Given the description of an element on the screen output the (x, y) to click on. 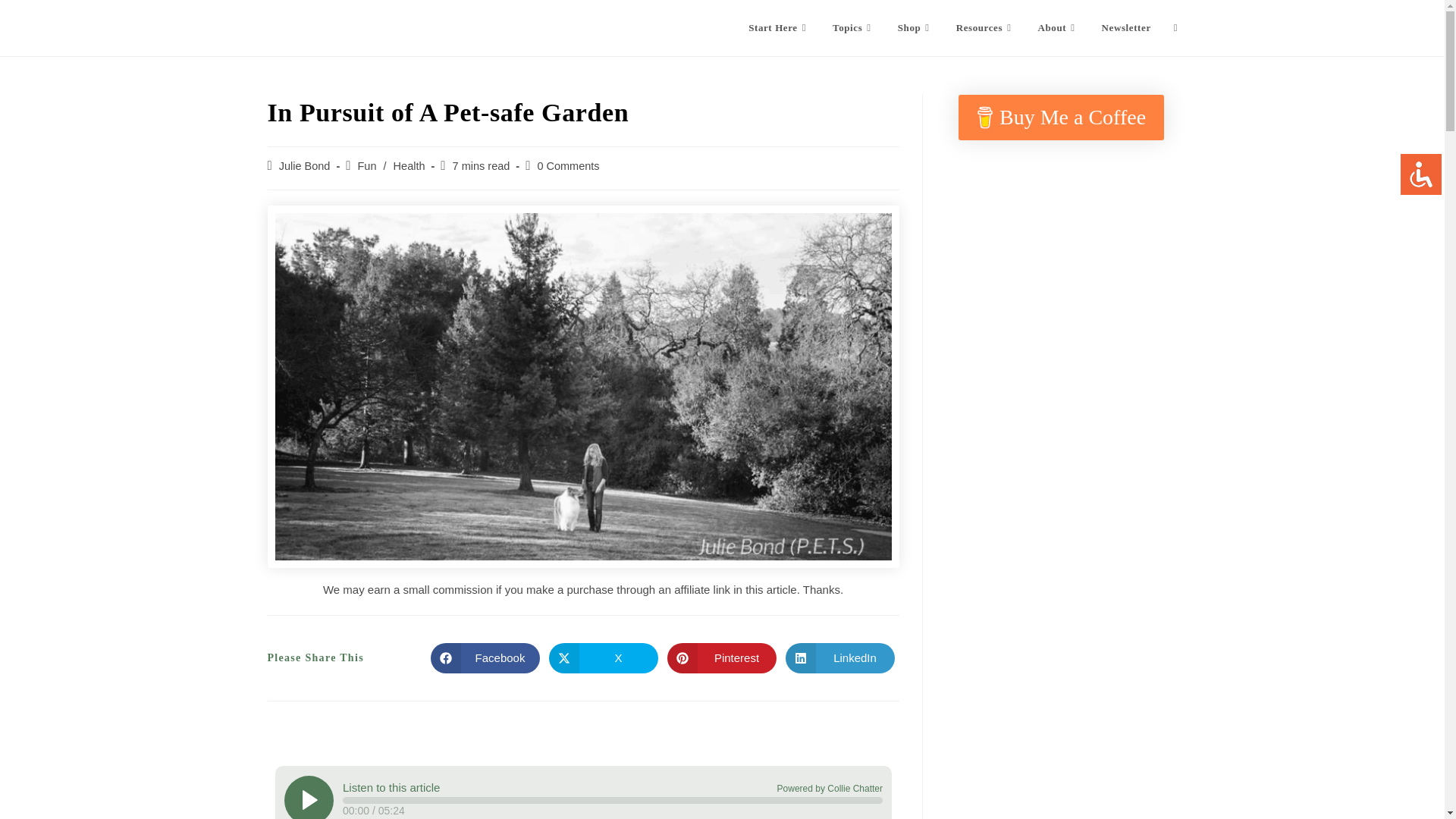
Topics (853, 28)
Fun (367, 165)
Shop (915, 28)
About (1058, 28)
Resources (985, 28)
Newsletter (1125, 28)
Start Here (778, 28)
Advertisement (1060, 303)
Julie Bond (304, 165)
Posts by Julie Bond (304, 165)
